Given the description of an element on the screen output the (x, y) to click on. 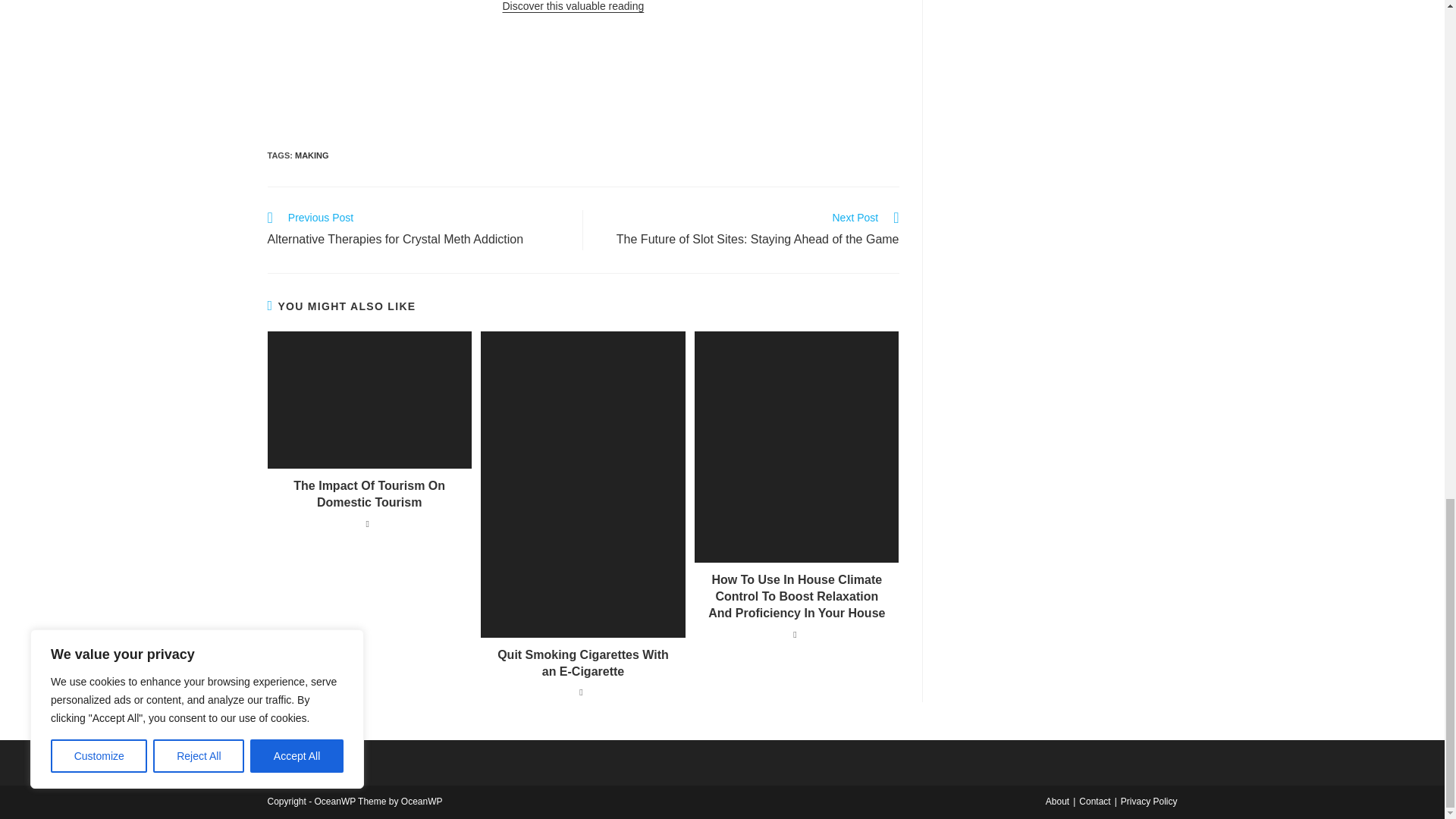
Discover this valuable reading (572, 6)
MAKING (312, 154)
